Given the description of an element on the screen output the (x, y) to click on. 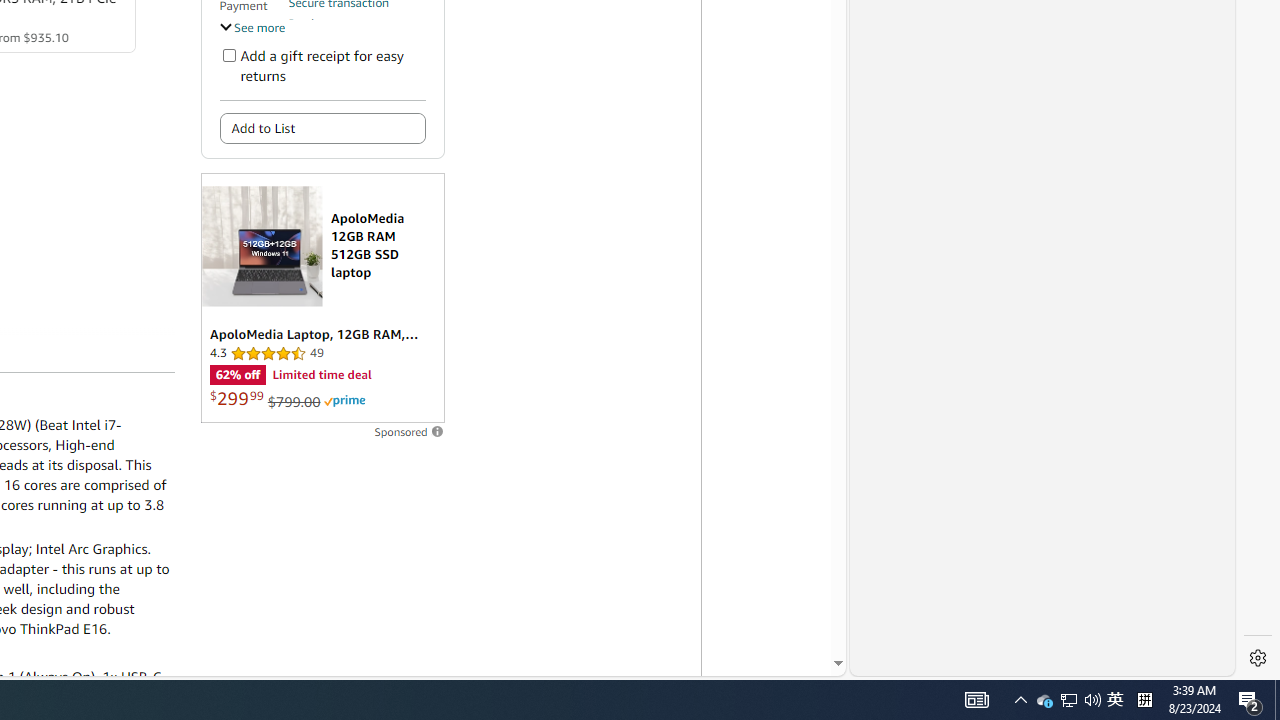
Add to List (322, 128)
Add a gift receipt for easy returns (228, 54)
Product support included (357, 31)
Sponsored ad (322, 297)
Prime (344, 400)
